Given the description of an element on the screen output the (x, y) to click on. 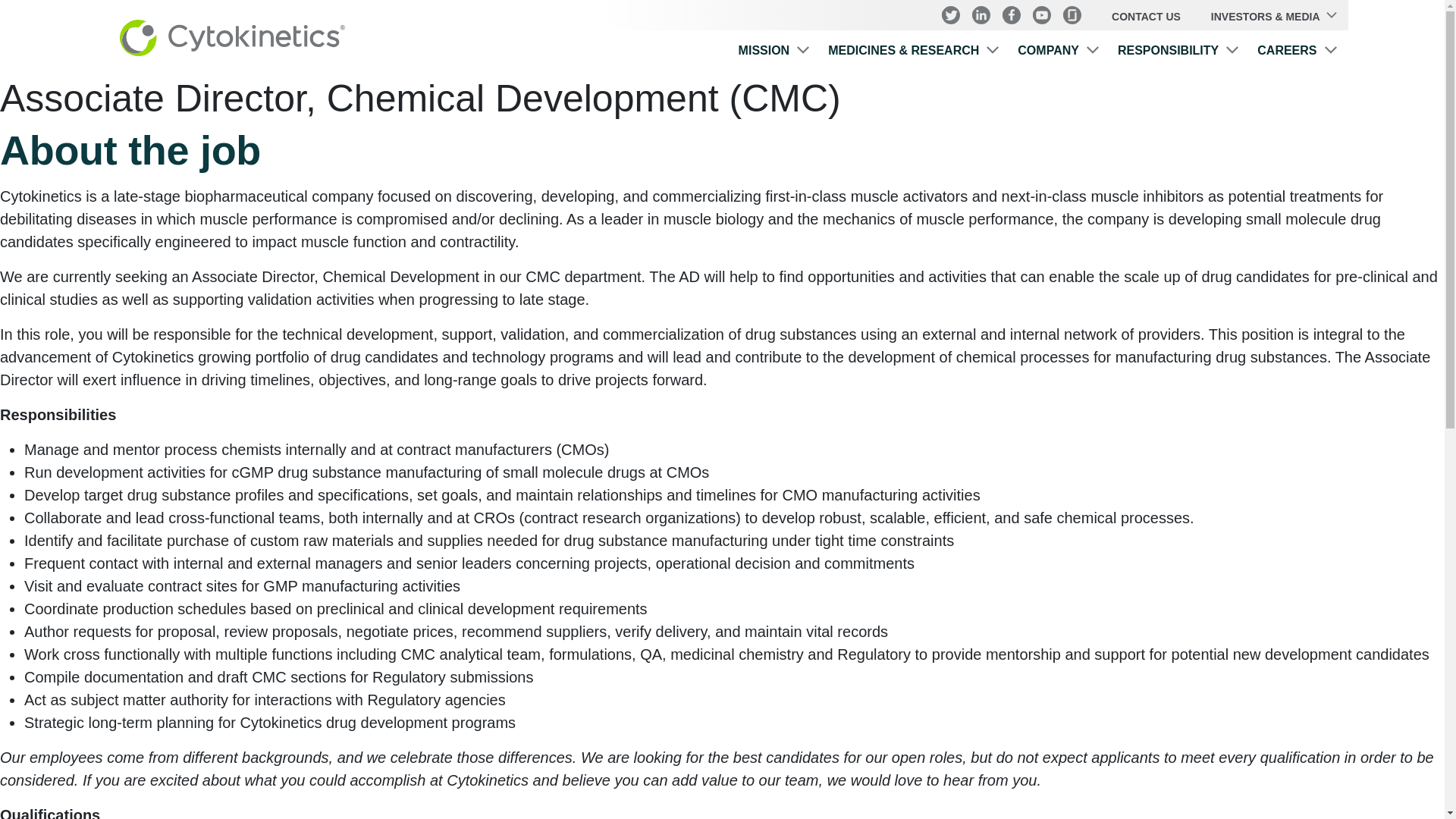
Twitter (950, 14)
COMPANY (1058, 53)
Glassdoor (1071, 14)
Youtube (1041, 14)
Facebook (1011, 14)
MISSION (773, 53)
LinkedIn (981, 14)
CONTACT US (1146, 16)
RESPONSIBILITY (1178, 53)
